Given the description of an element on the screen output the (x, y) to click on. 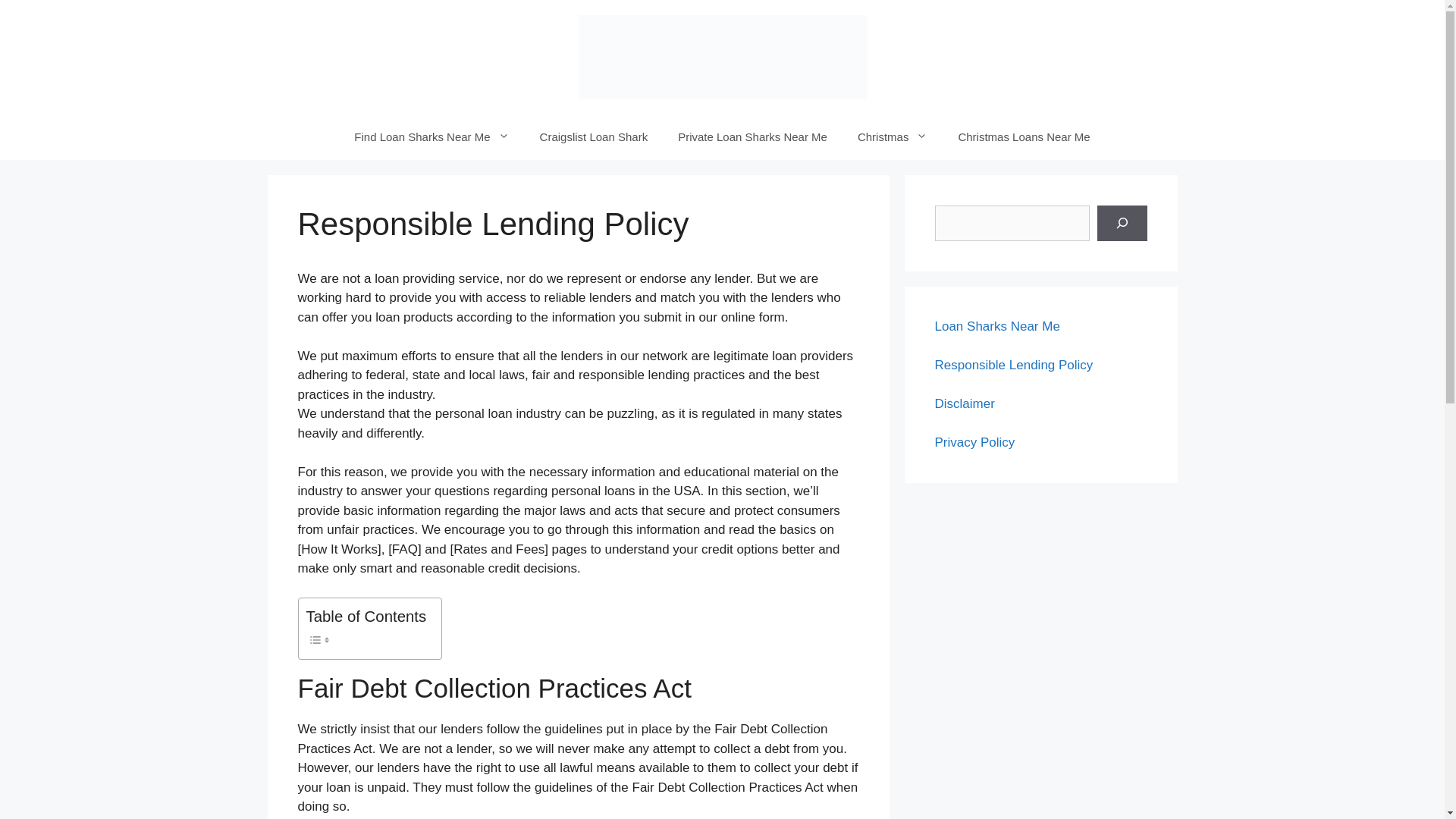
Privacy Policy (974, 441)
Disclaimer (964, 403)
Christmas Loans Near Me (1023, 136)
Christmas (893, 136)
Find Loan Sharks Near Me (431, 136)
Private Loan Sharks Near Me (752, 136)
Craigslist Loan Shark (593, 136)
Loan Sharks Near Me (996, 326)
Responsible Lending Policy (1013, 364)
